Given the description of an element on the screen output the (x, y) to click on. 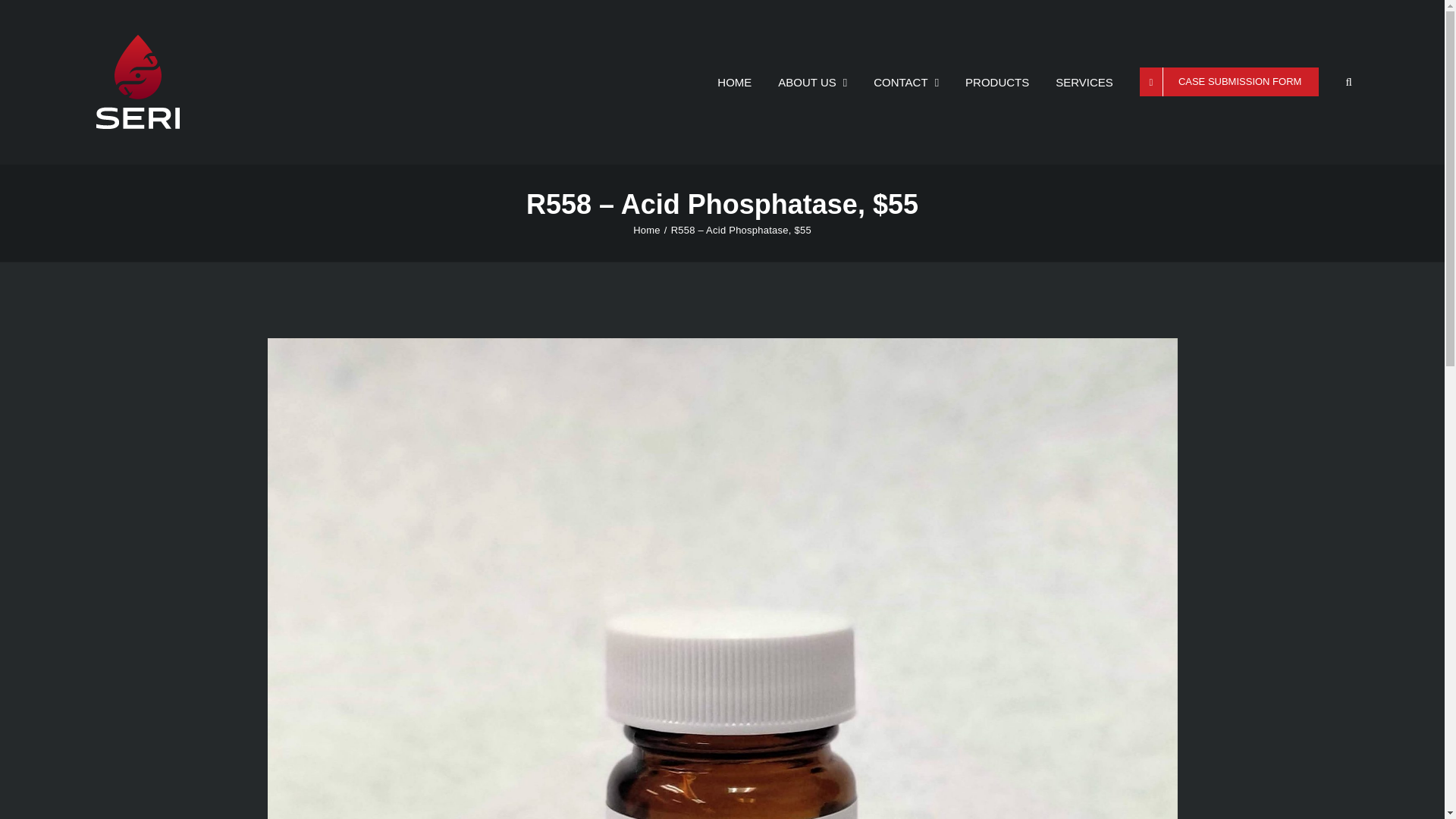
CASE SUBMISSION FORM (1229, 81)
Home (647, 229)
